Given the description of an element on the screen output the (x, y) to click on. 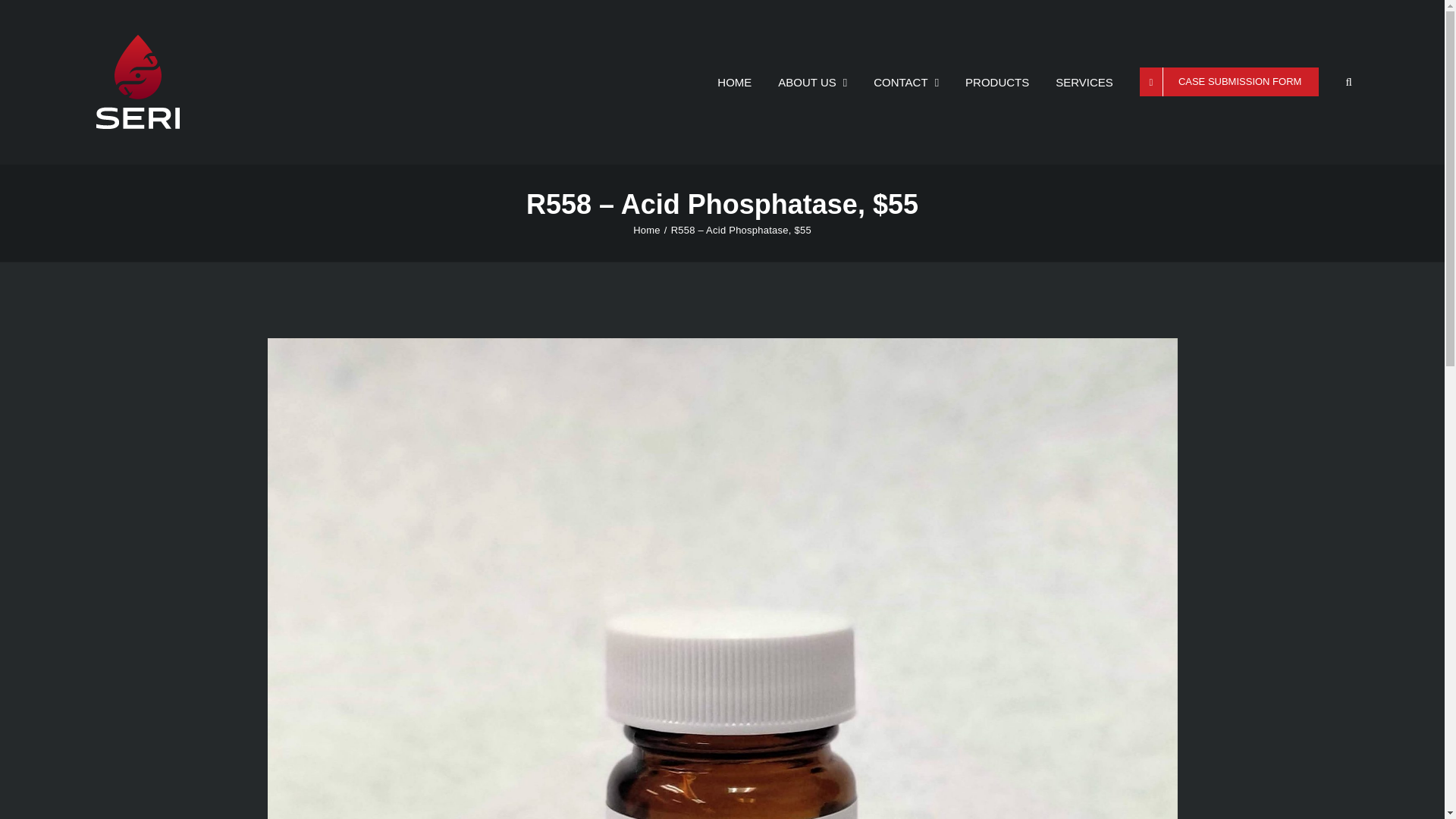
CASE SUBMISSION FORM (1229, 81)
Home (647, 229)
